Given the description of an element on the screen output the (x, y) to click on. 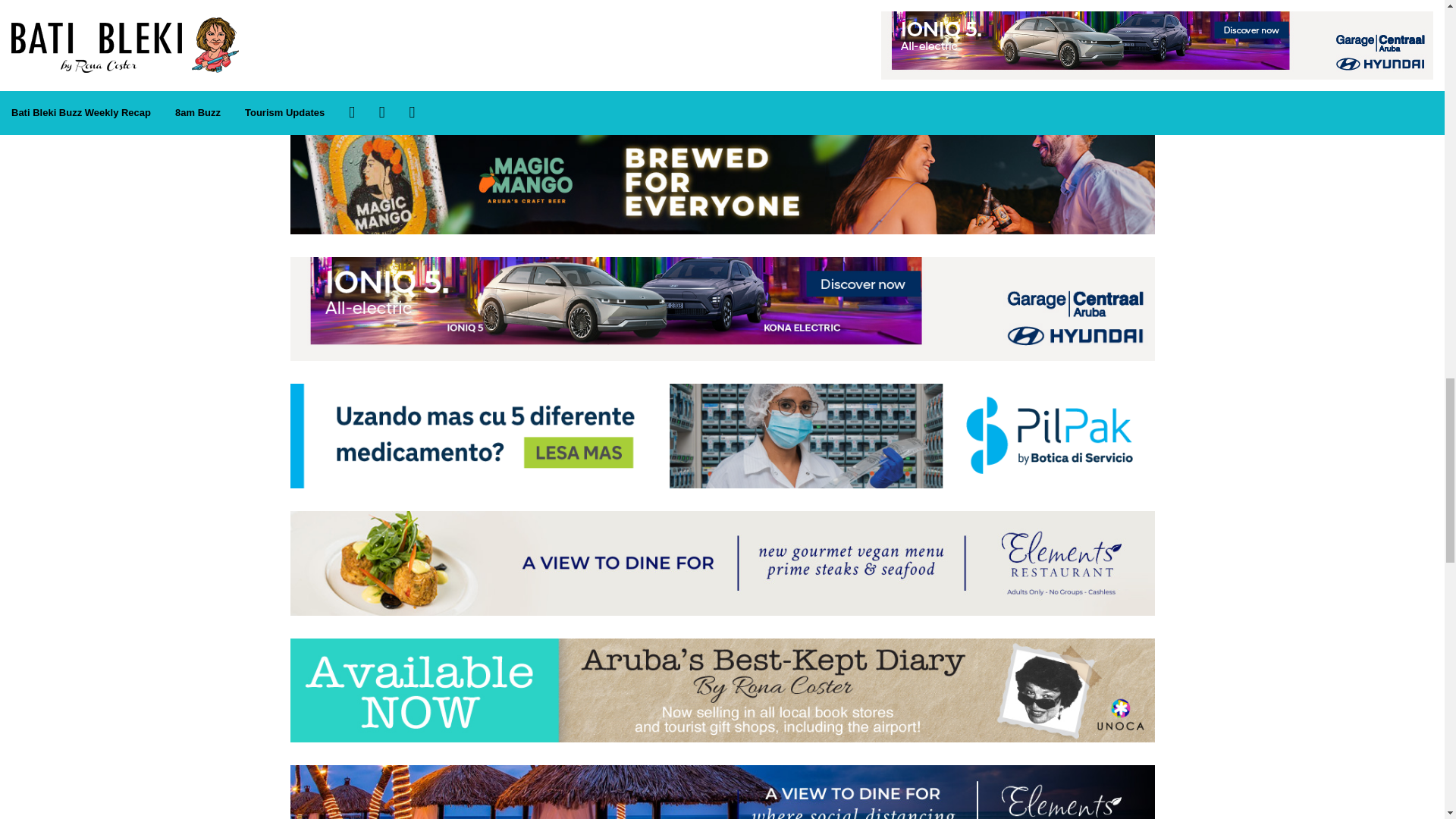
Next (721, 61)
Previous (328, 61)
